Given the description of an element on the screen output the (x, y) to click on. 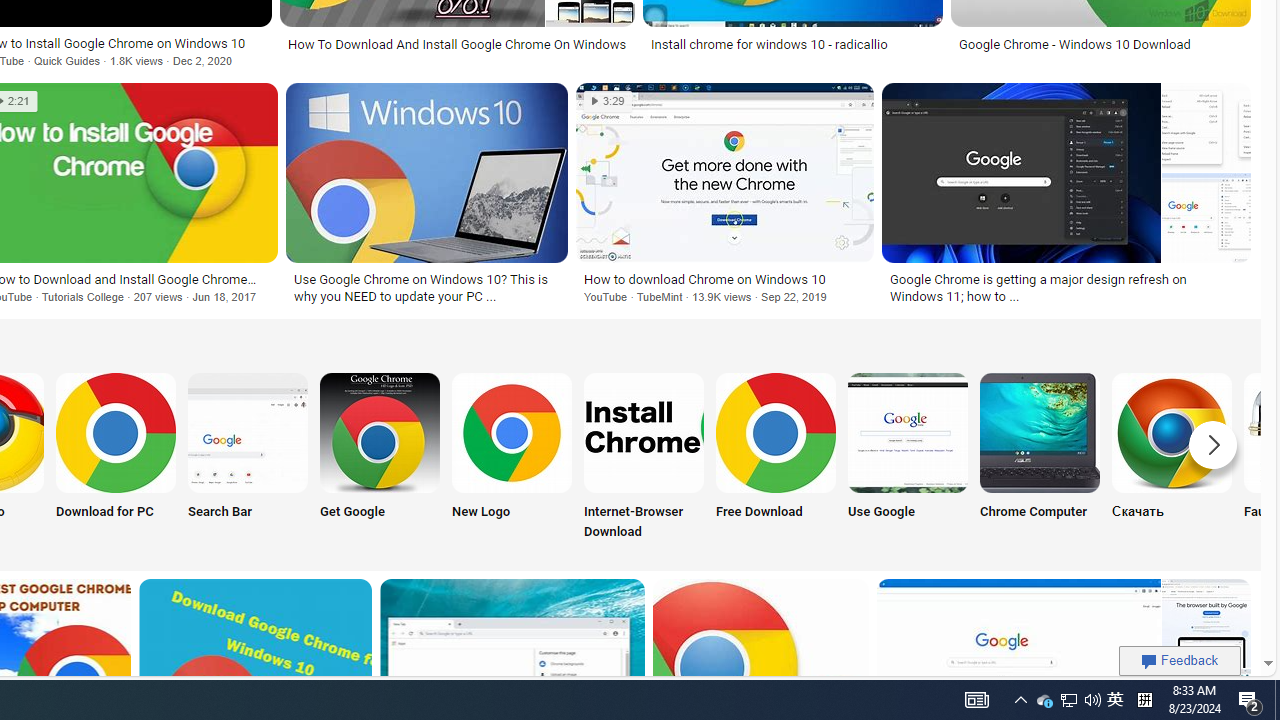
Image result for Chrome Windows (1206, 623)
Chrome Free Download (775, 432)
Chrome Computer (1039, 457)
Chrome New Logo (511, 432)
Use Google (907, 457)
Free Download (775, 457)
Install chrome for windows 10 - radicallio (792, 44)
Google Chrome - Windows 10 Download (1100, 44)
How to download Chrome on Windows 10 (724, 279)
3:29 (607, 101)
Feedback (1179, 660)
Use Google Chrome (907, 432)
